Given the description of an element on the screen output the (x, y) to click on. 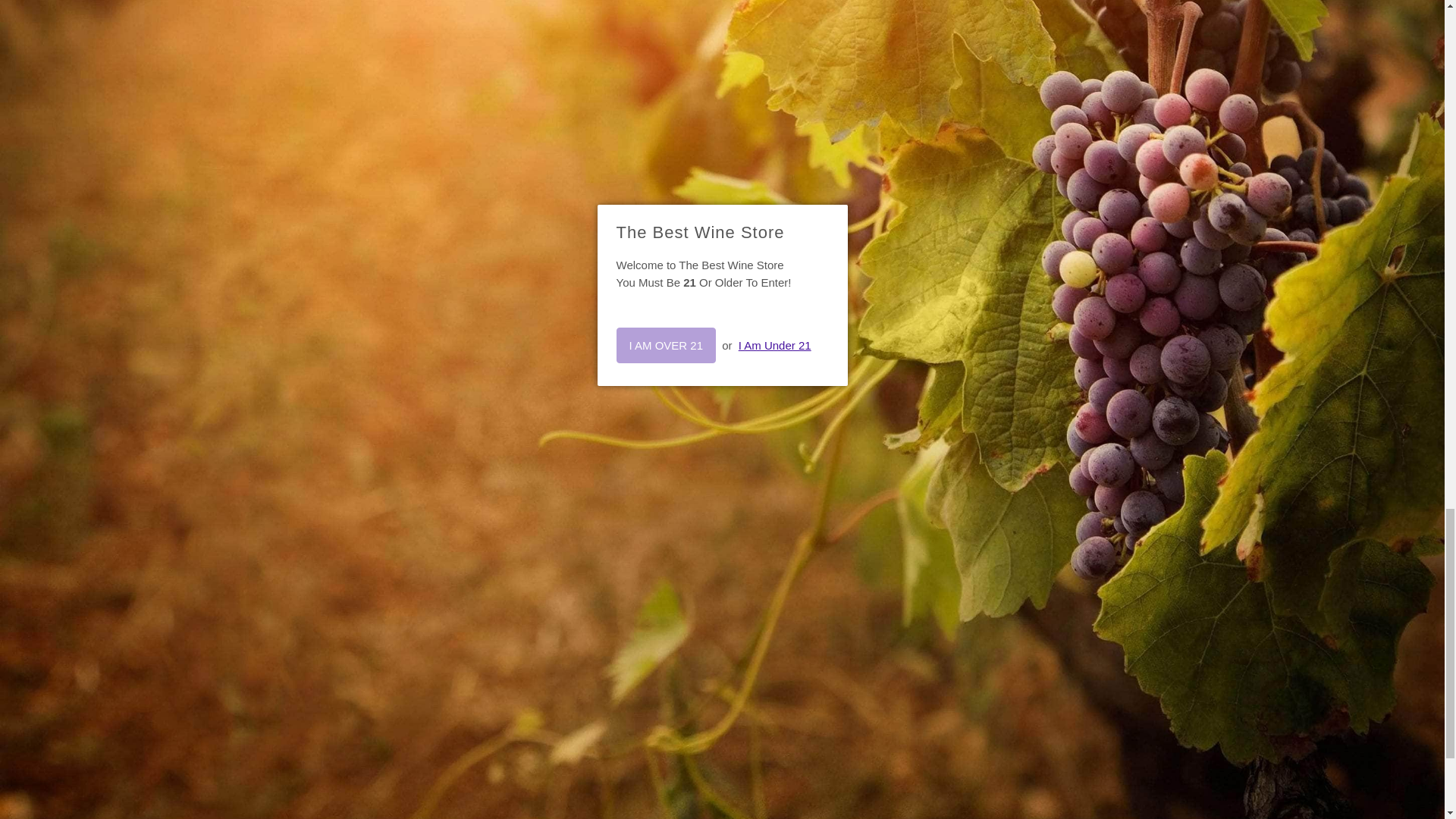
Sign Up (1074, 493)
